Given the description of an element on the screen output the (x, y) to click on. 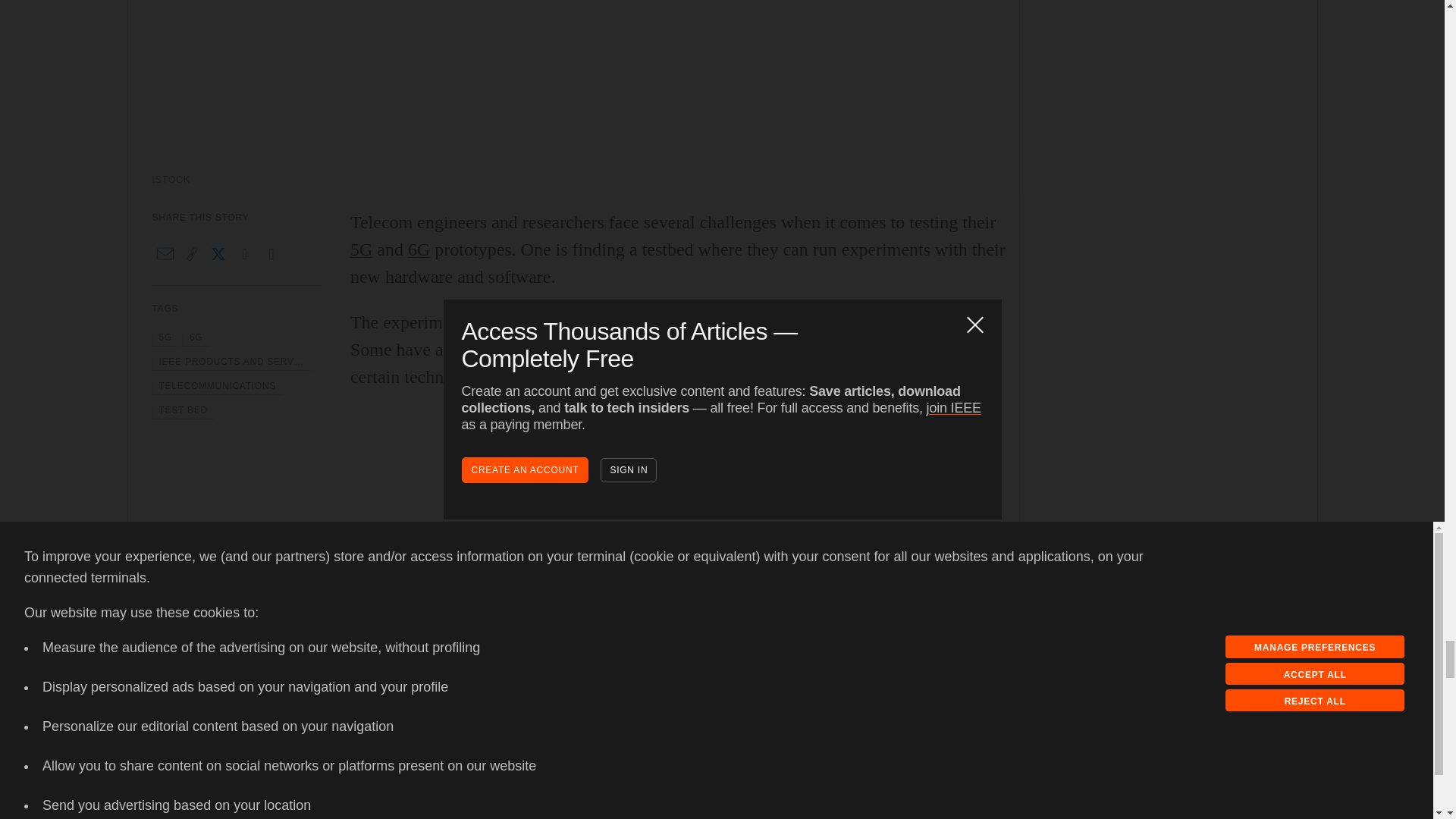
Copy this link to clipboard (192, 253)
